Given the description of an element on the screen output the (x, y) to click on. 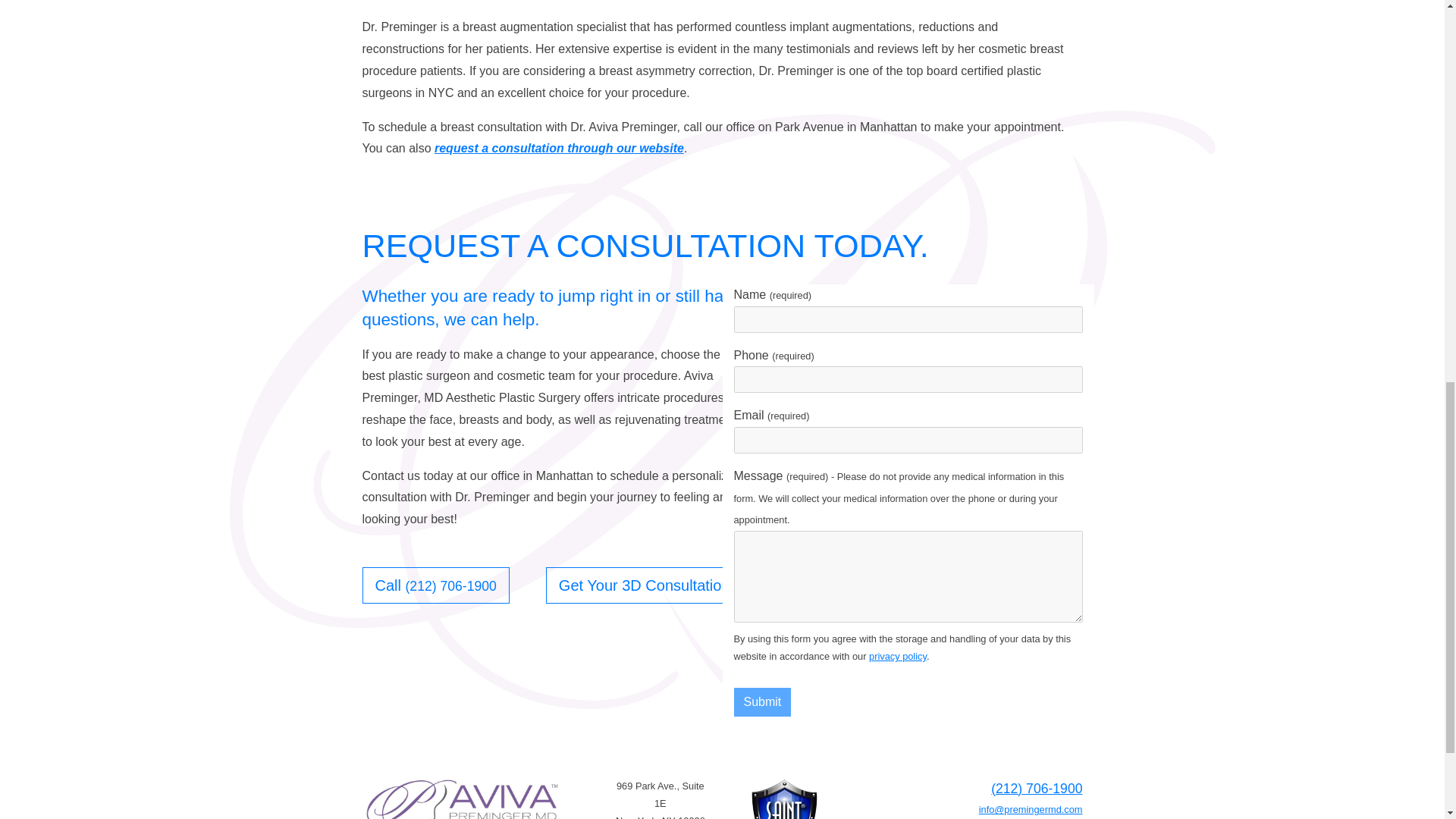
Contact B. Aviva Preminger, MD in New York NY (558, 147)
Submit (762, 701)
